Given the description of an element on the screen output the (x, y) to click on. 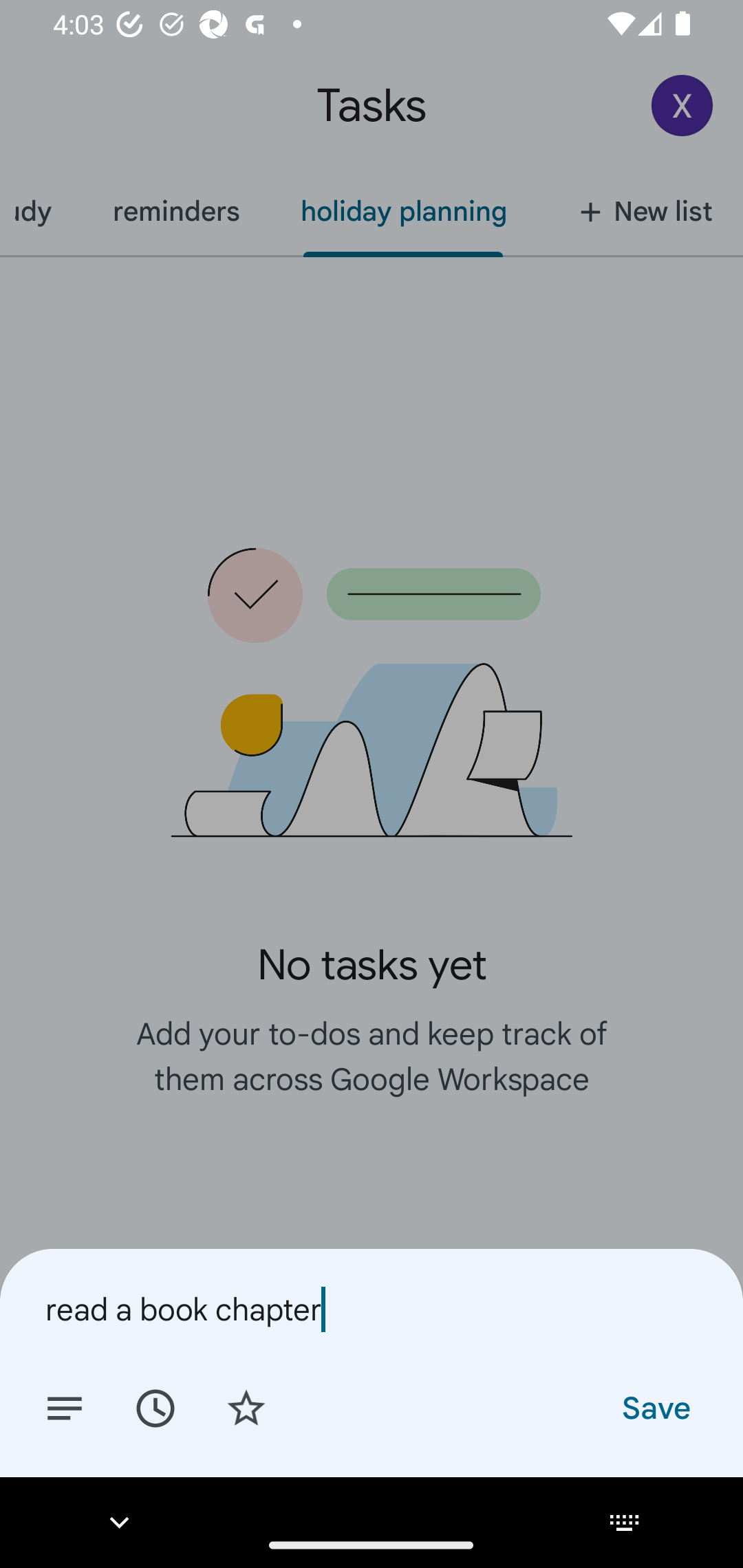
read a book chapter (371, 1308)
Save (655, 1407)
Add details (64, 1407)
Set date/time (154, 1407)
Add star (245, 1407)
